Given the description of an element on the screen output the (x, y) to click on. 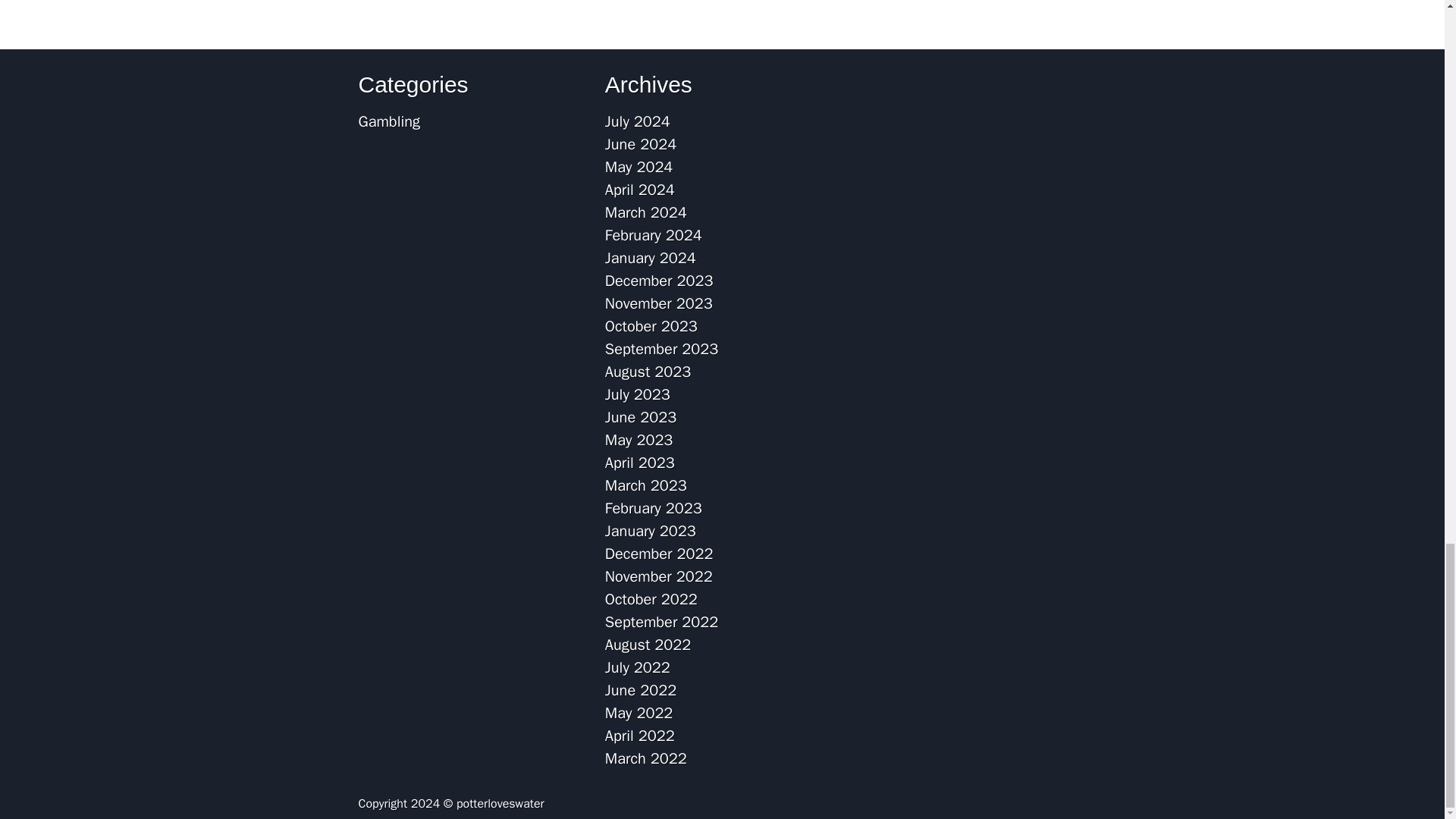
January 2024 (650, 257)
May 2024 (638, 167)
January 2023 (650, 530)
March 2022 (646, 758)
September 2022 (661, 621)
July 2023 (637, 394)
April 2024 (640, 189)
August 2022 (648, 644)
November 2022 (659, 576)
April 2022 (640, 735)
November 2023 (659, 303)
Gambling (388, 121)
April 2023 (640, 462)
December 2023 (659, 280)
June 2022 (641, 690)
